Given the description of an element on the screen output the (x, y) to click on. 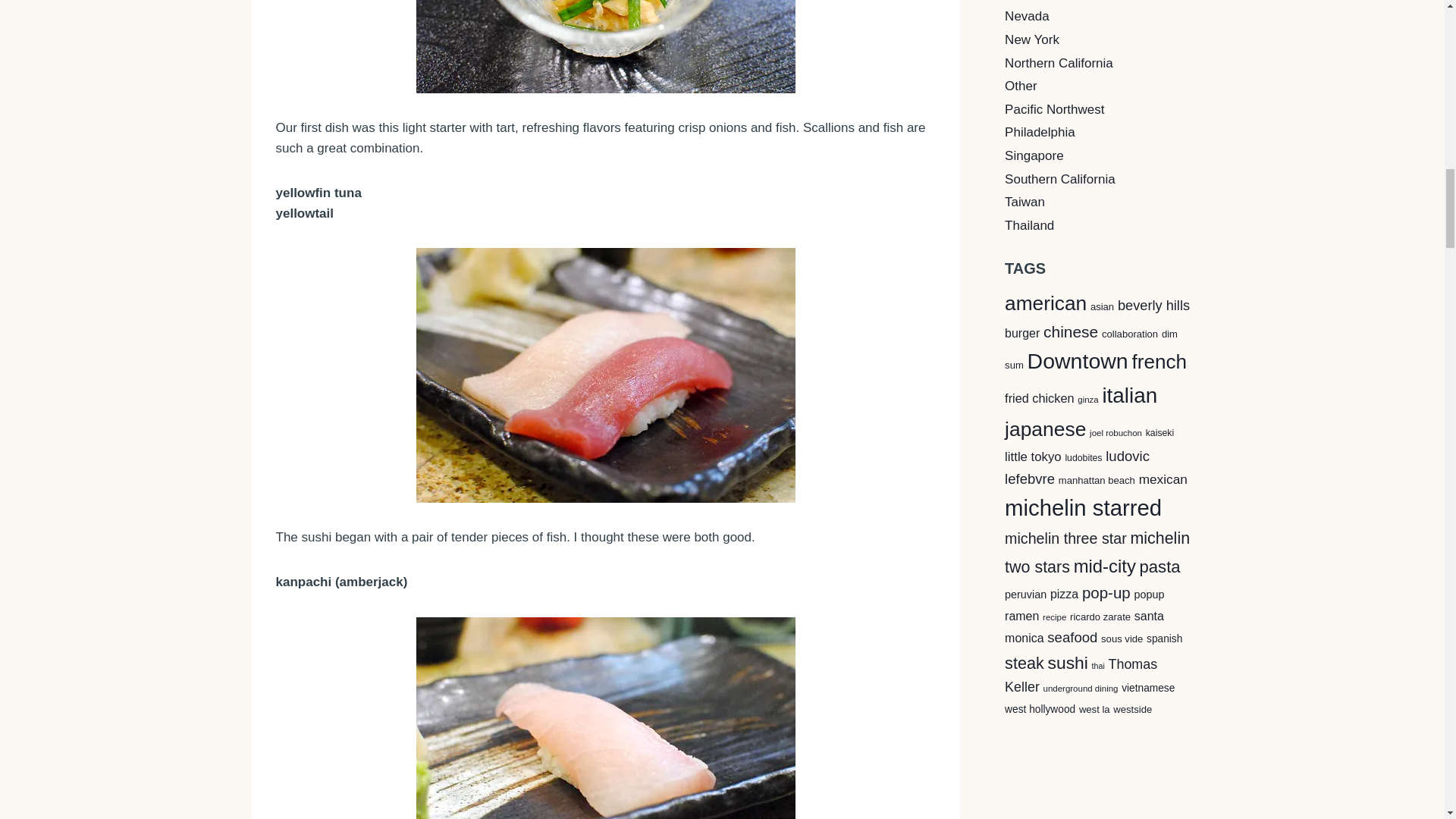
kanpachi by Darin Dines, on Flickr (606, 718)
